Given the description of an element on the screen output the (x, y) to click on. 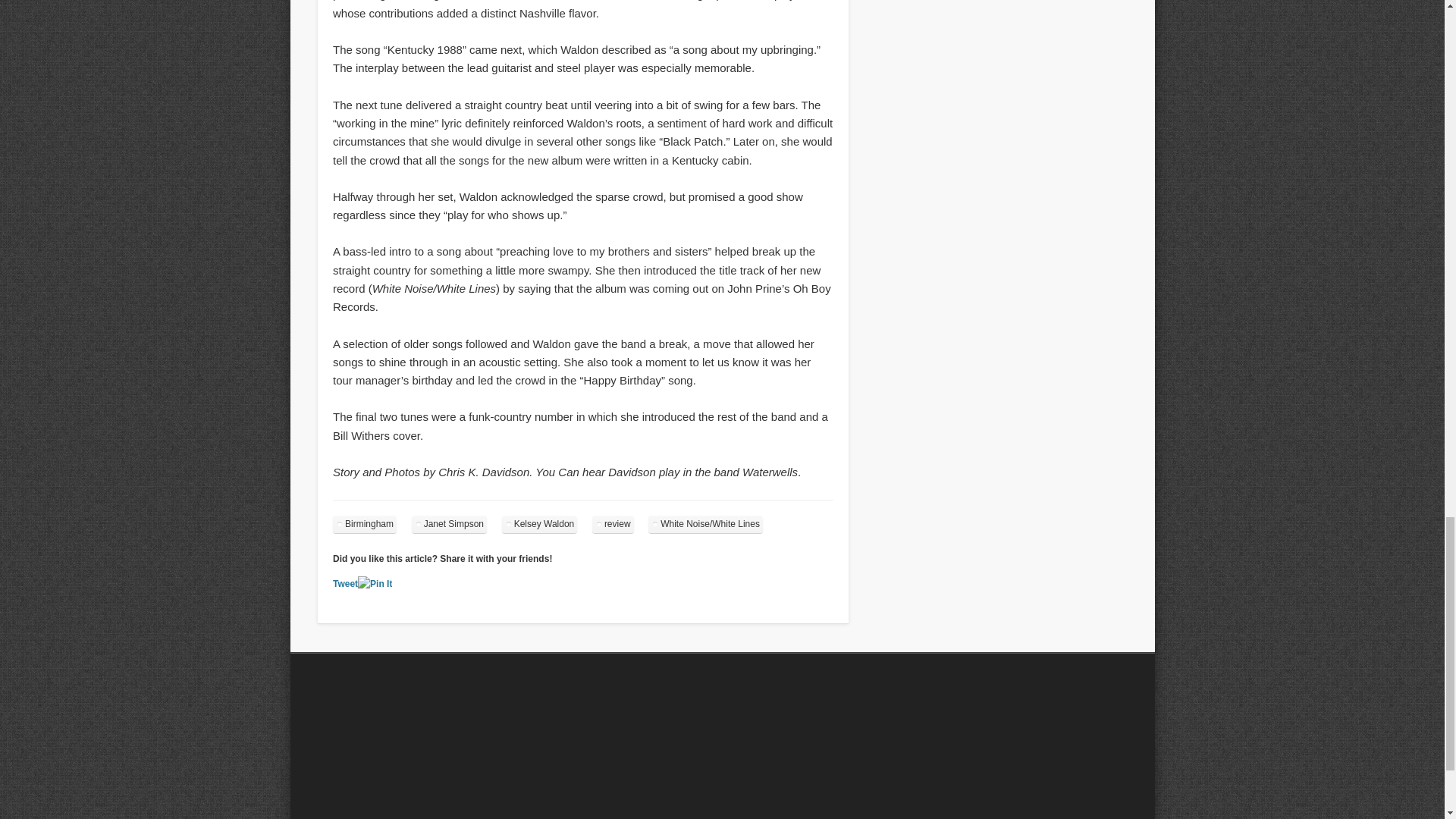
Pin It (374, 584)
review (612, 524)
Janet Simpson (449, 524)
Kelsey Waldon (540, 524)
Tweet (345, 583)
Birmingham (364, 524)
